Given the description of an element on the screen output the (x, y) to click on. 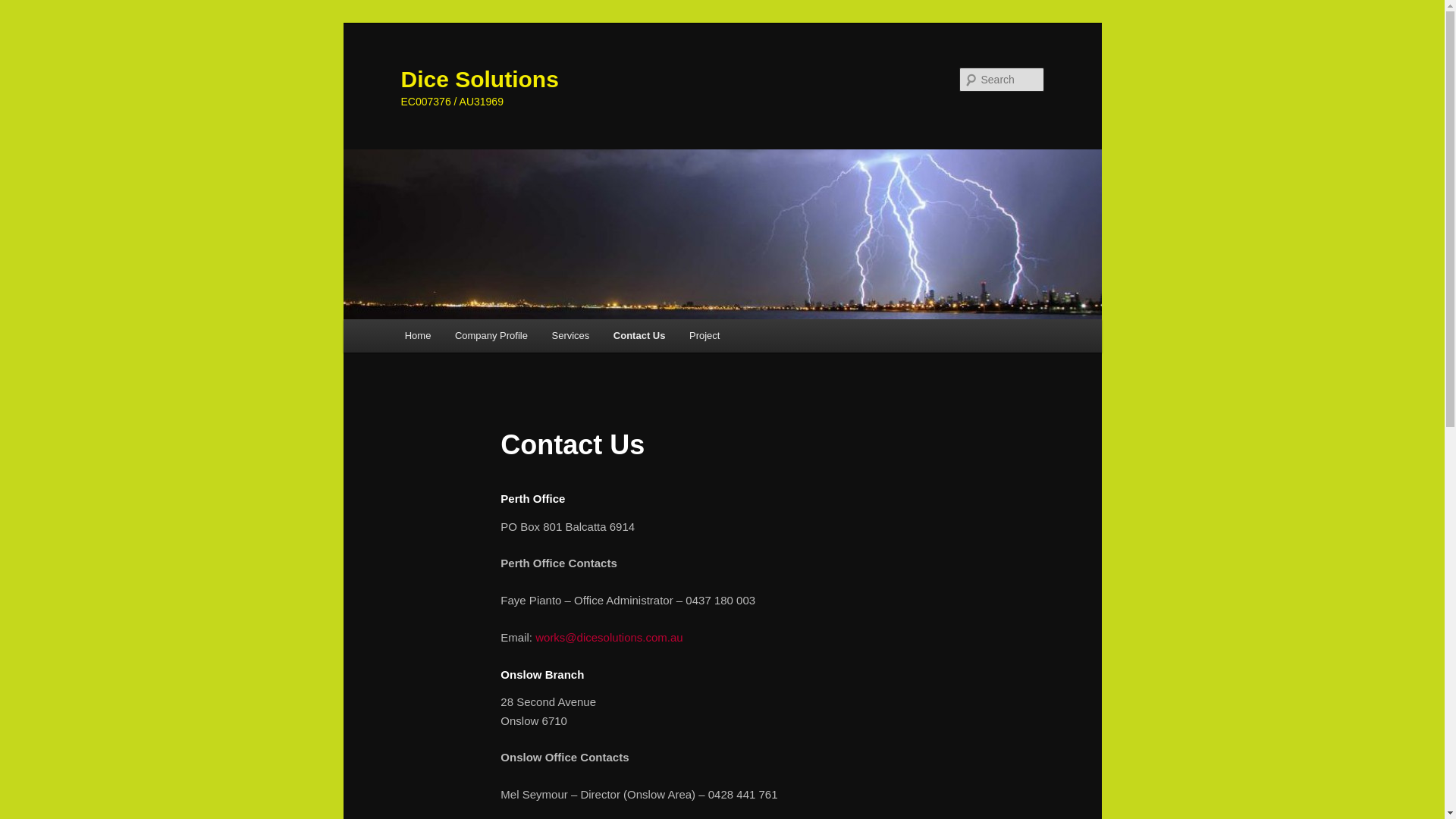
Company Profile Element type: text (490, 335)
Services Element type: text (570, 335)
Contact Us Element type: text (639, 335)
Search Element type: text (24, 8)
Skip to primary content Element type: text (22, 22)
works@dicesolutions.com.au Element type: text (608, 636)
Project Element type: text (704, 335)
Dice Solutions Element type: text (479, 78)
Home Element type: text (417, 335)
